Given the description of an element on the screen output the (x, y) to click on. 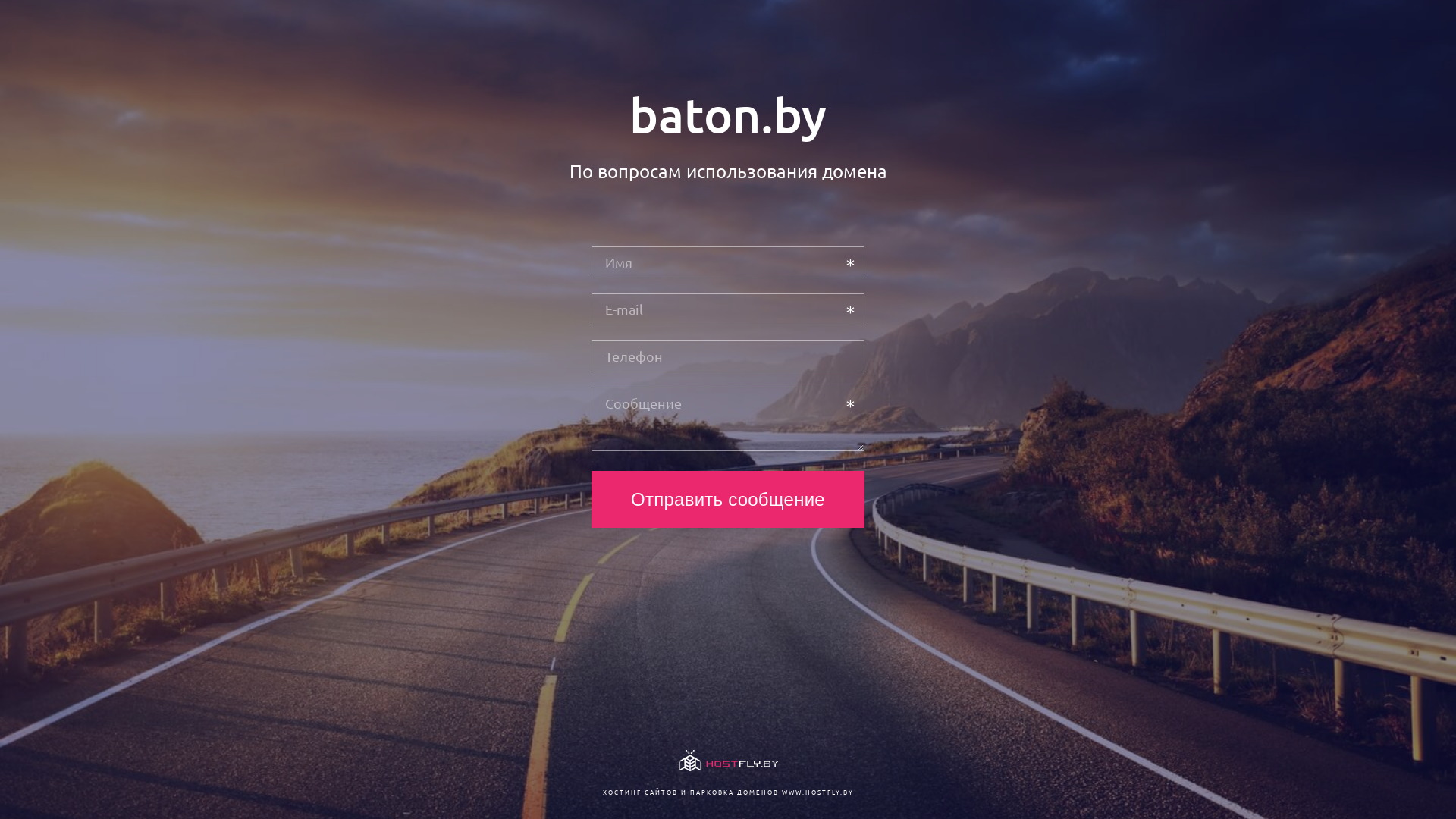
WWW.HOSTFLY.BY Element type: text (817, 791)
